Given the description of an element on the screen output the (x, y) to click on. 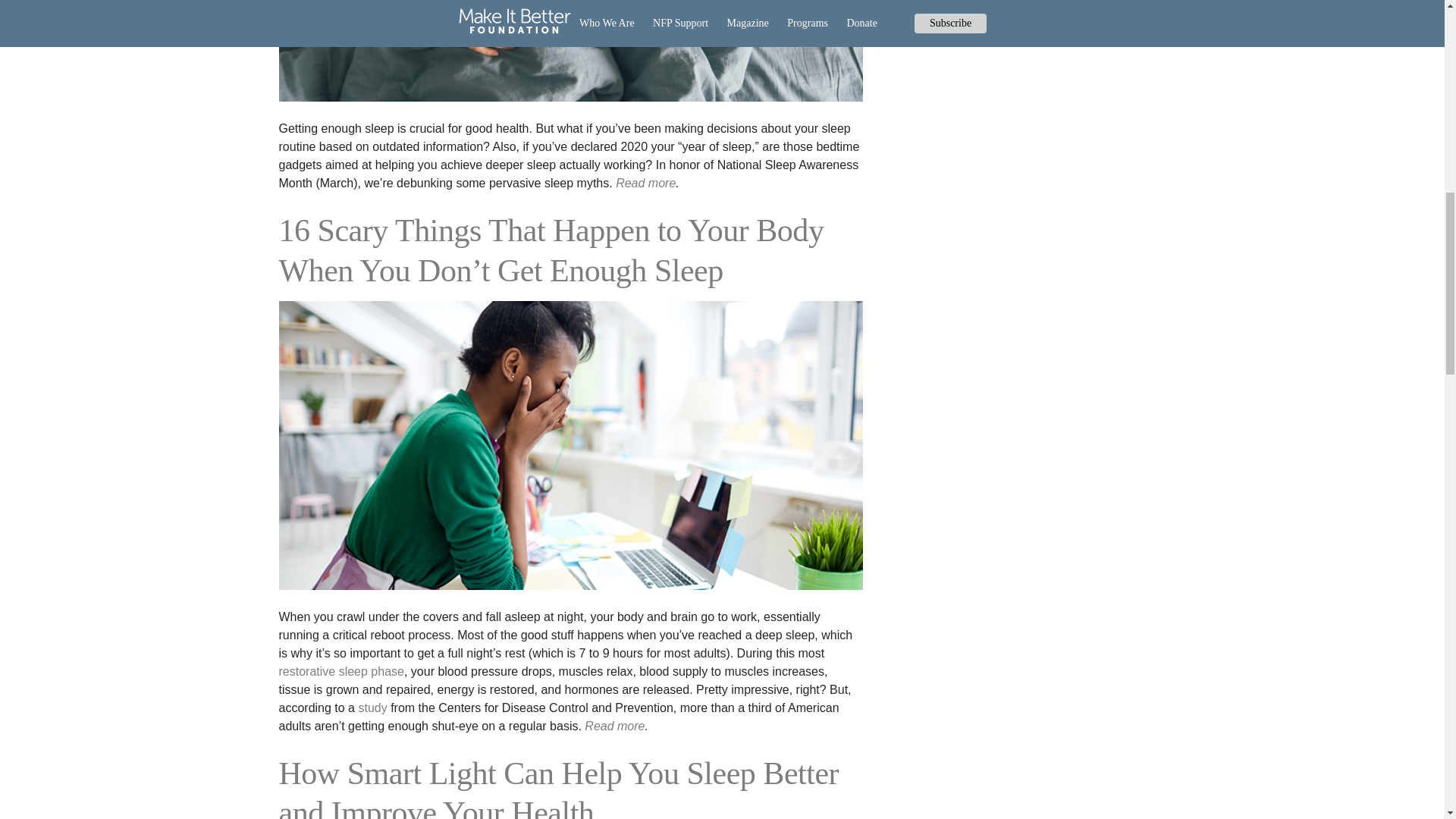
Advertisement (1037, 135)
restorative sleep phase (341, 671)
Read more (645, 182)
